Given the description of an element on the screen output the (x, y) to click on. 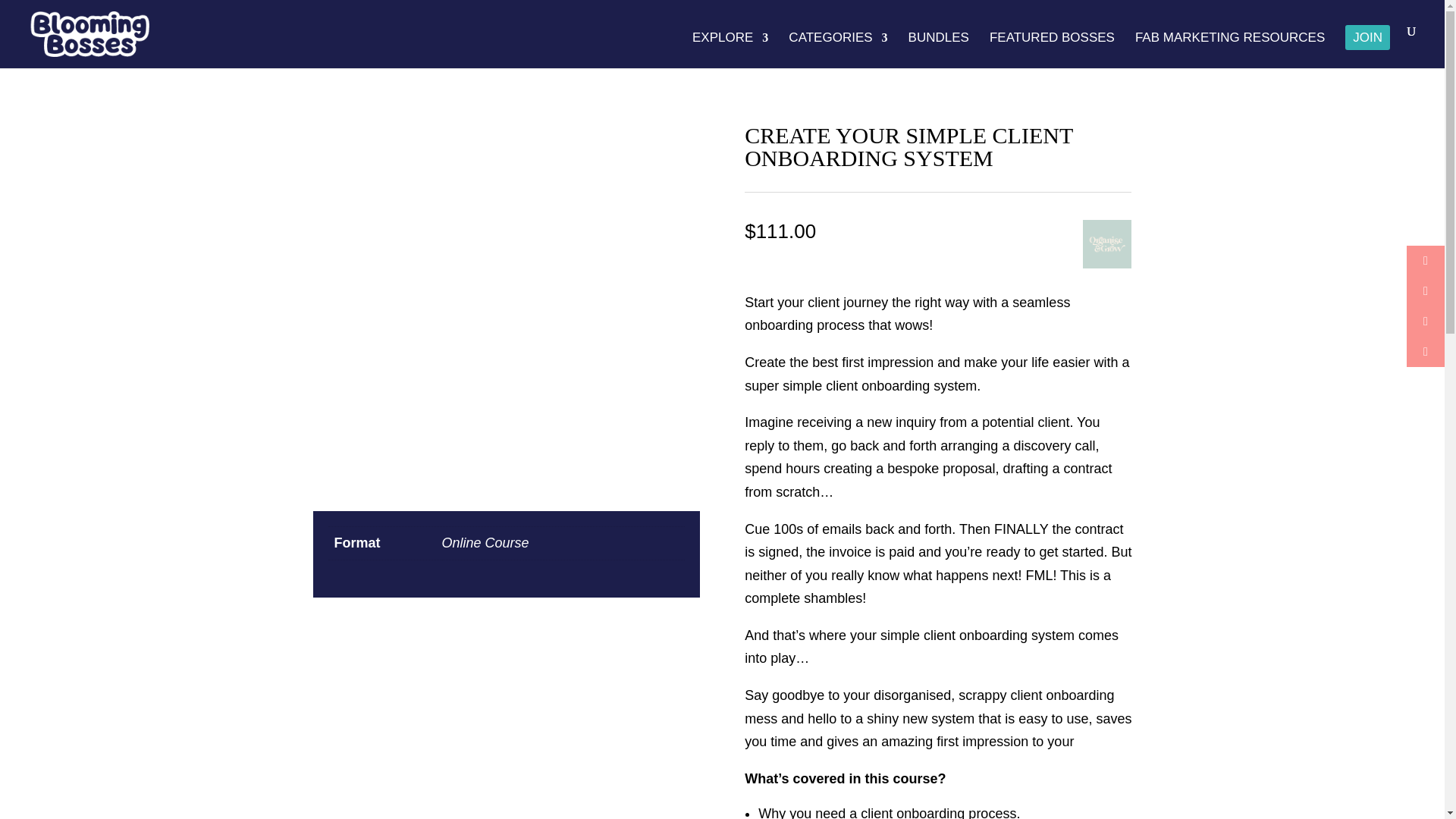
FEATURED BOSSES (1052, 49)
BUNDLES (938, 49)
CATEGORIES (837, 49)
EXPLORE (730, 49)
FAB MARKETING RESOURCES (1229, 49)
